Given the description of an element on the screen output the (x, y) to click on. 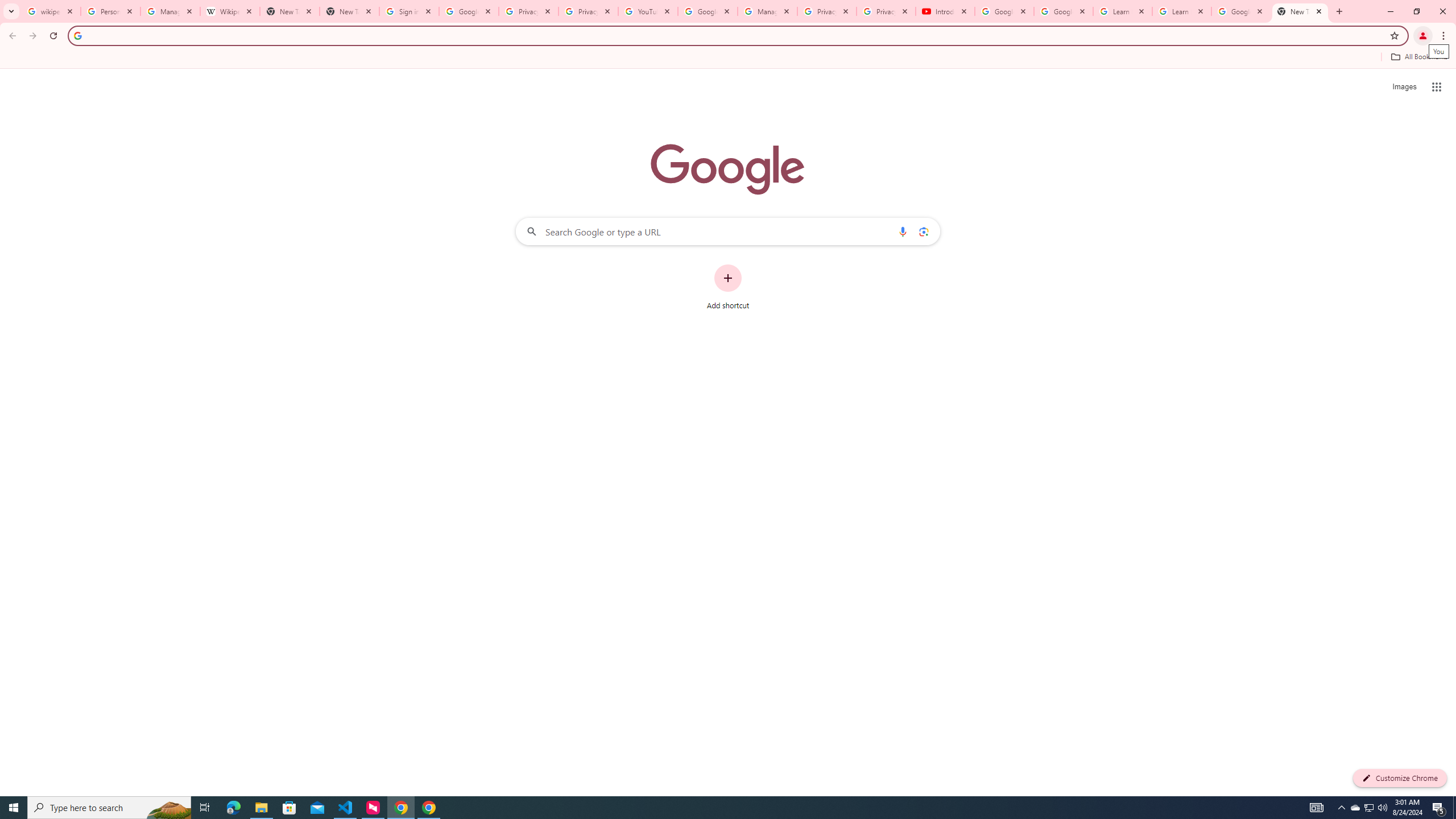
Sign in - Google Accounts (409, 11)
Wikipedia:Edit requests - Wikipedia (229, 11)
Search by image (922, 230)
Google Account Help (1063, 11)
YouTube (647, 11)
Google Drive: Sign-in (468, 11)
